Given the description of an element on the screen output the (x, y) to click on. 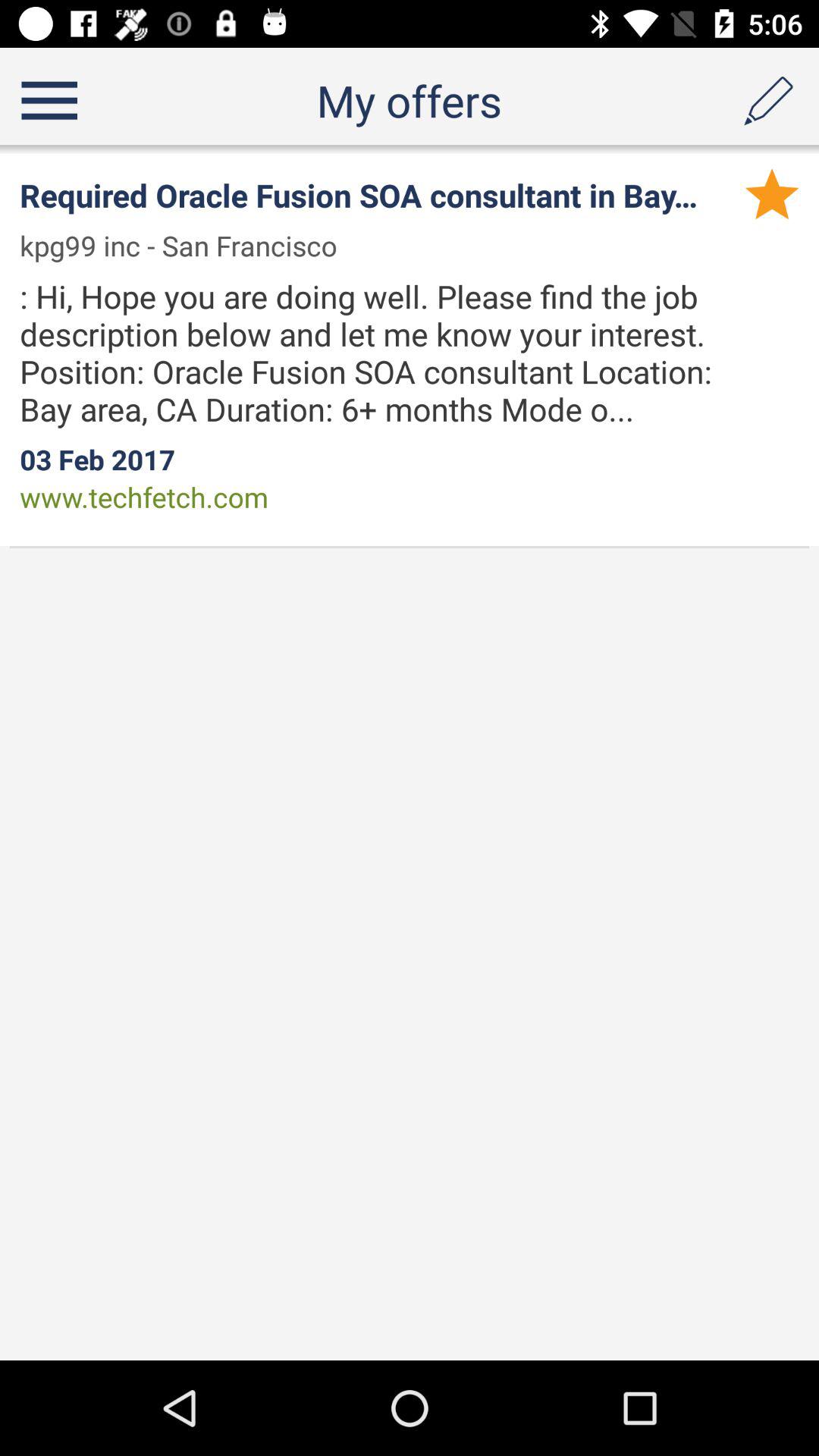
open icon to the left of w item (188, 245)
